Given the description of an element on the screen output the (x, y) to click on. 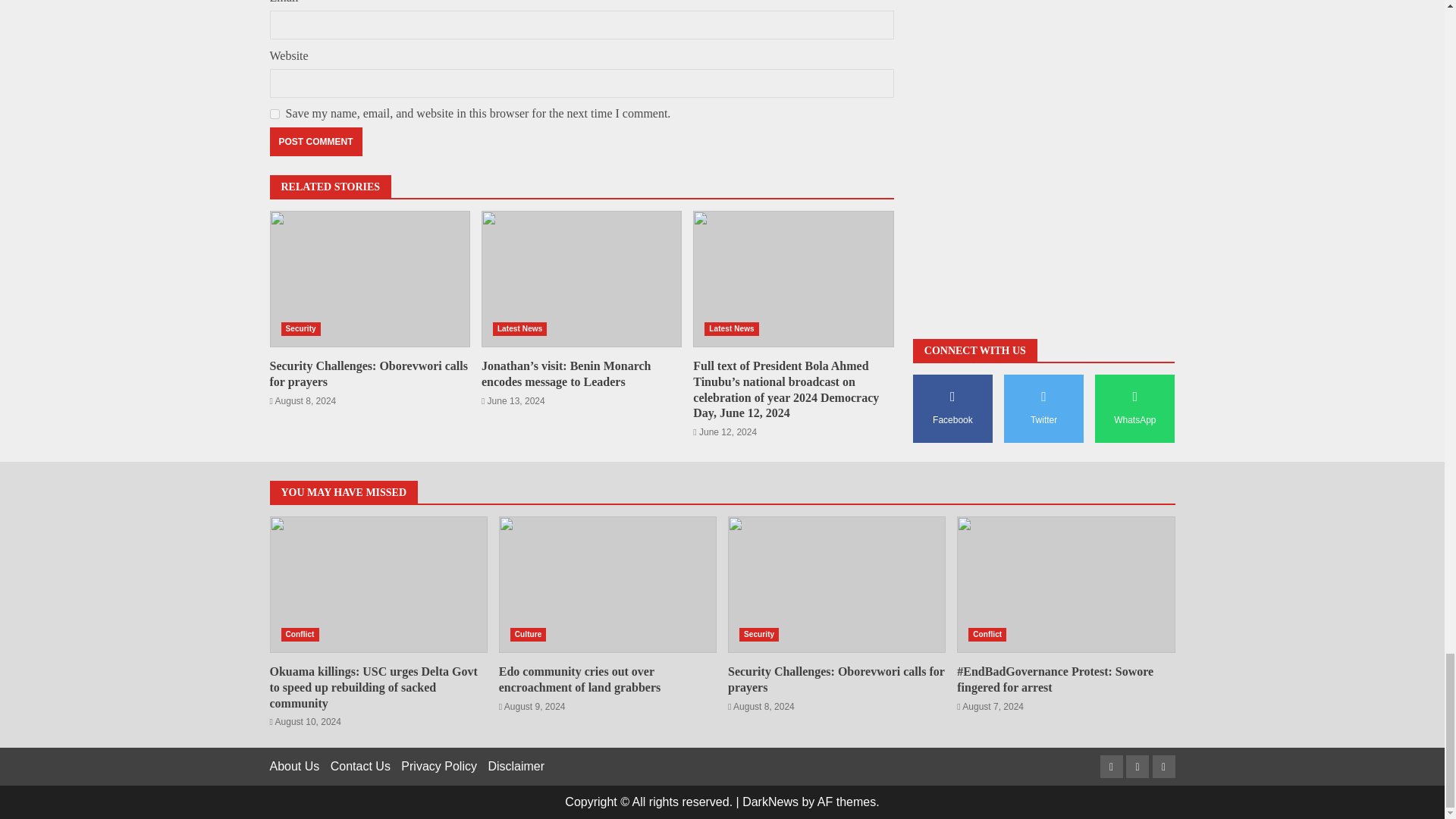
Post Comment (315, 141)
Post Comment (315, 141)
yes (274, 113)
